Given the description of an element on the screen output the (x, y) to click on. 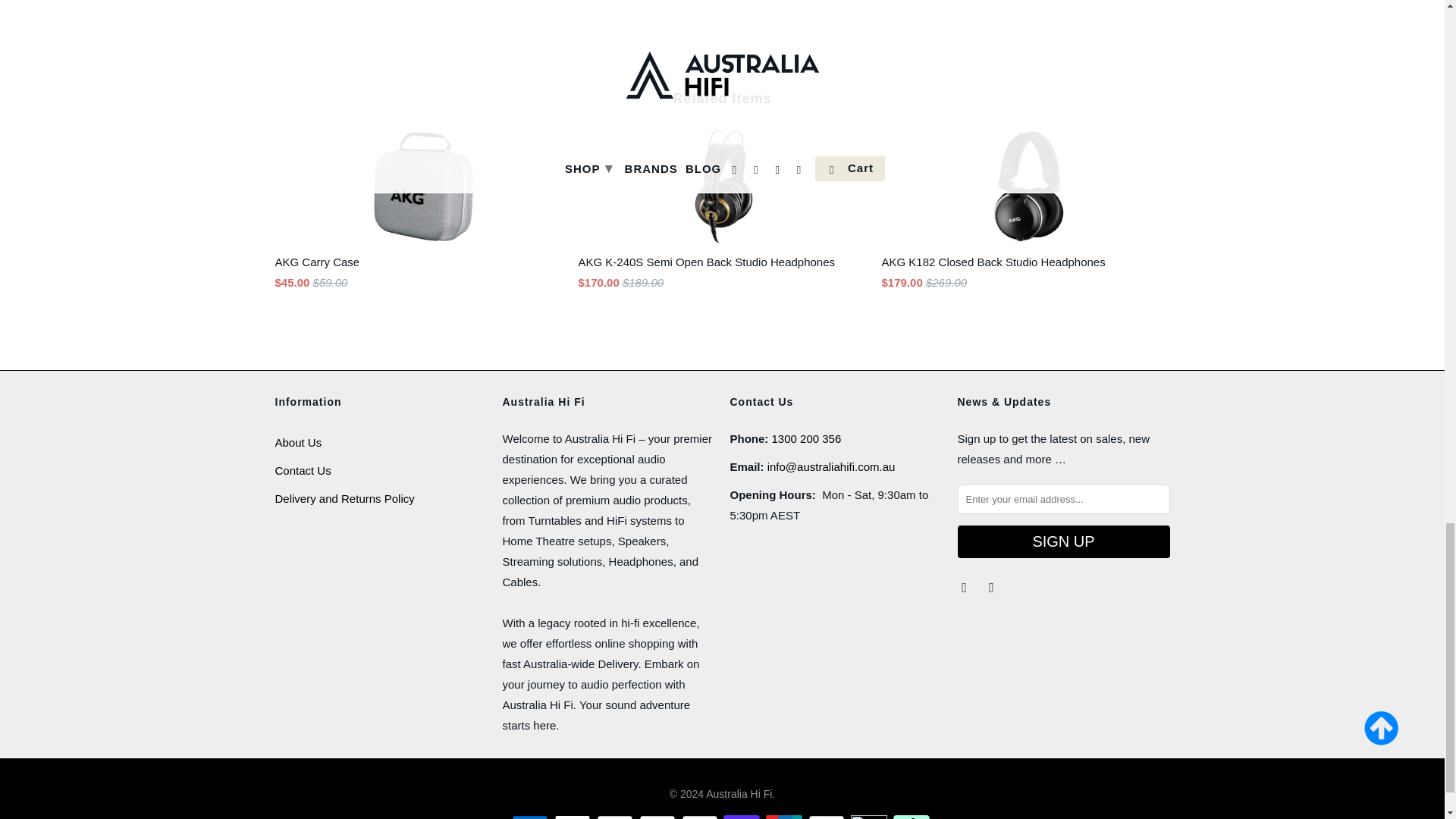
Australia Hi Fi on Instagram (992, 586)
Australia Hi Fi on Facebook (965, 586)
Sign Up (1062, 541)
tel:1300 200 356 (806, 438)
Delivery and Returns Policy (344, 498)
About Us (298, 441)
Contact Us (302, 470)
